Given the description of an element on the screen output the (x, y) to click on. 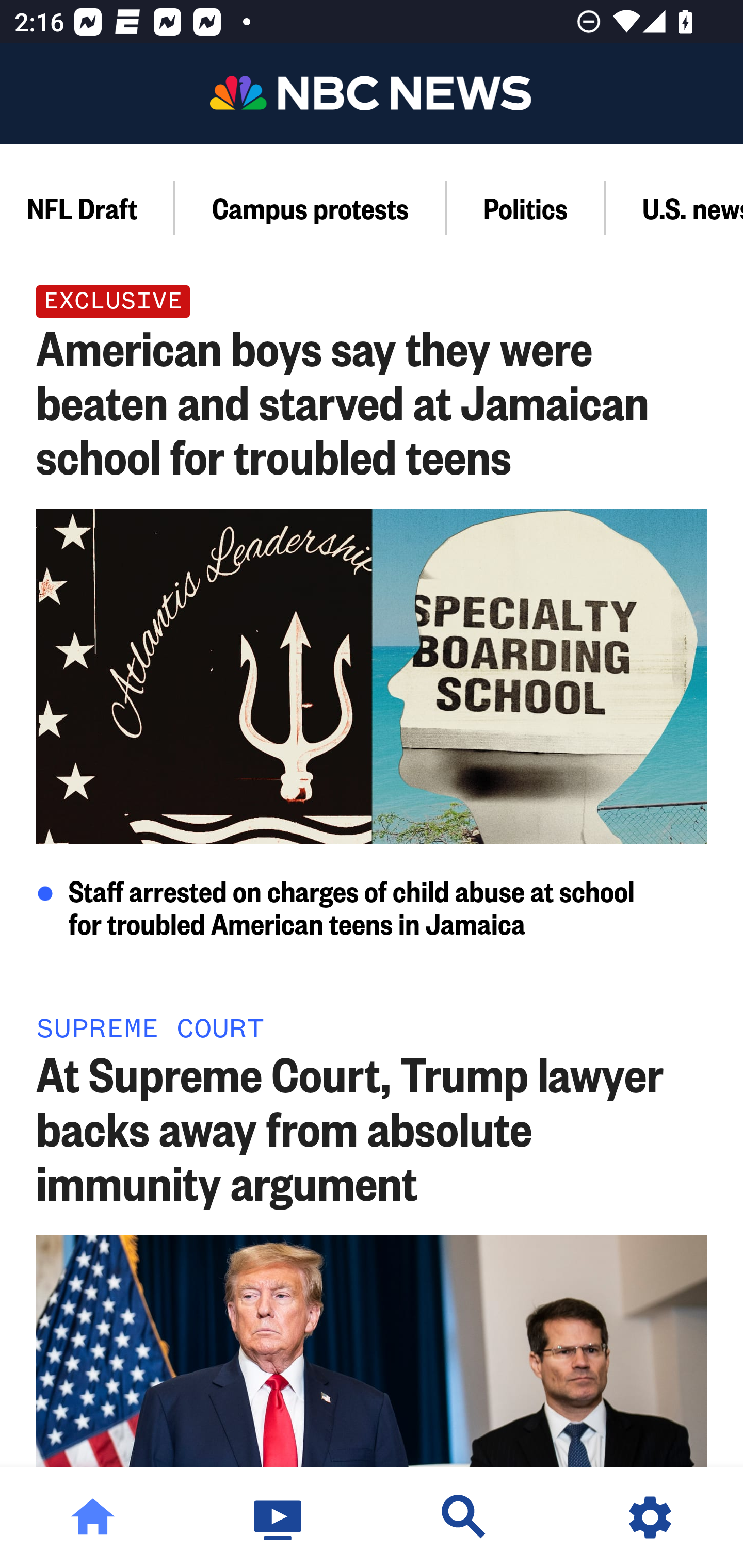
NFL Draft (87, 207)
Campus protests (310, 207)
Politics Section,Politics (525, 207)
Watch (278, 1517)
Discover (464, 1517)
Settings (650, 1517)
